Given the description of an element on the screen output the (x, y) to click on. 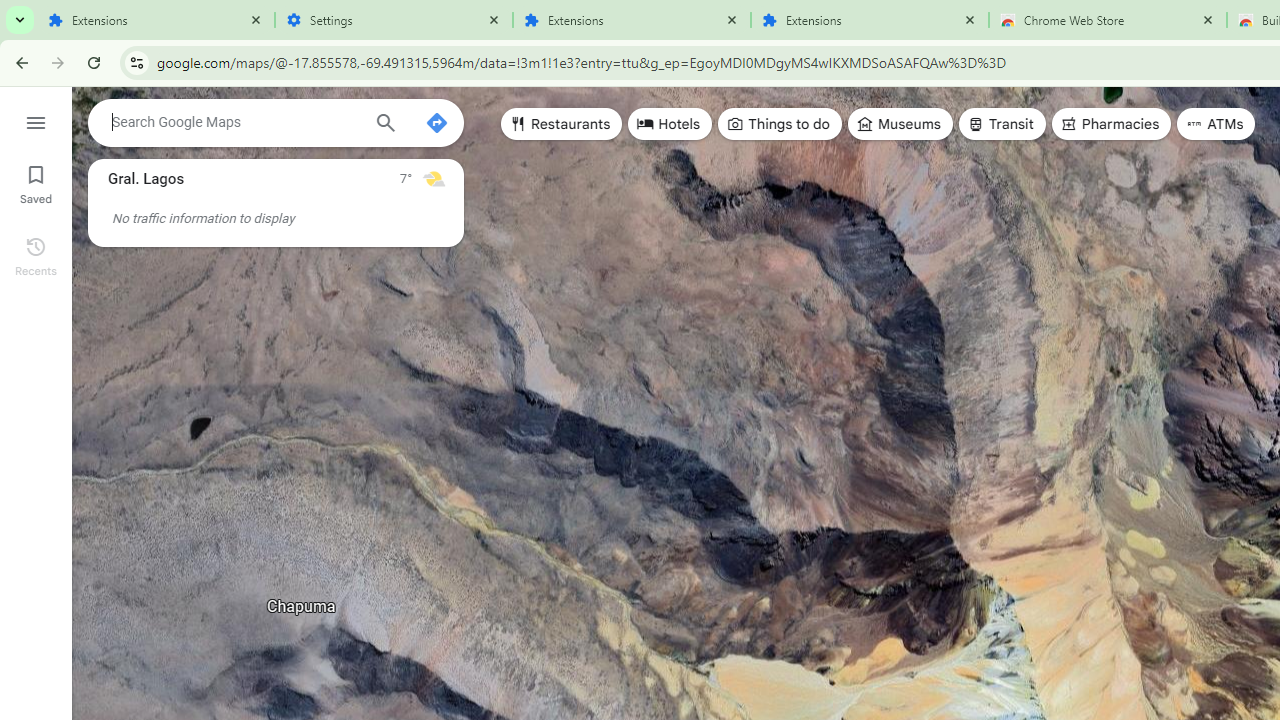
Recents (35, 254)
Extensions (632, 20)
Settings (394, 20)
Search Google Maps (235, 121)
Saved (35, 182)
Extensions (156, 20)
Pharmacies (1111, 124)
Hotels (670, 124)
Chrome Web Store (1108, 20)
